Given the description of an element on the screen output the (x, y) to click on. 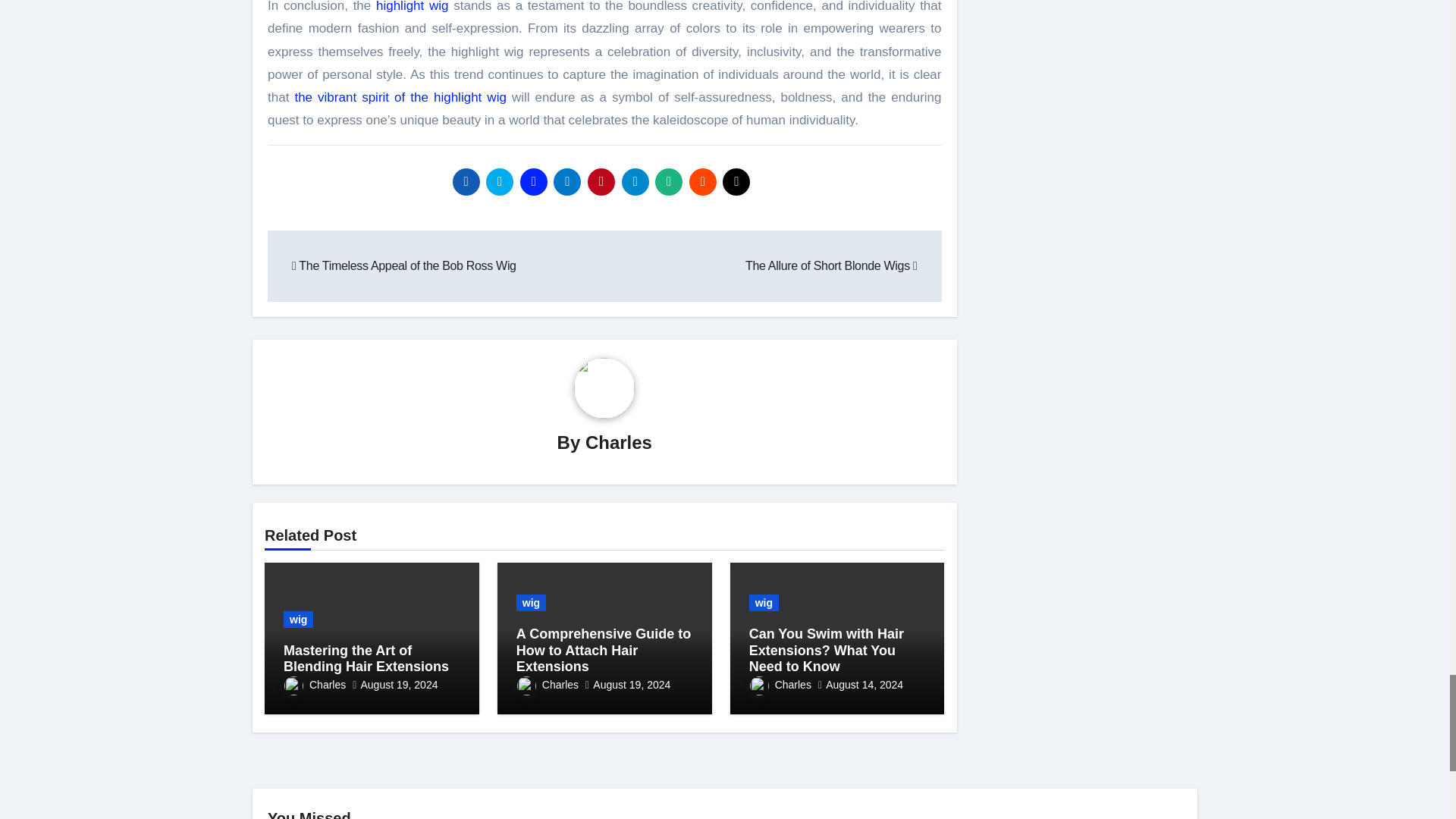
Permalink to: Mastering the Art of Blending Hair Extensions (365, 658)
the vibrant spirit of the highlight wig (399, 97)
highlight wig (411, 6)
